Given the description of an element on the screen output the (x, y) to click on. 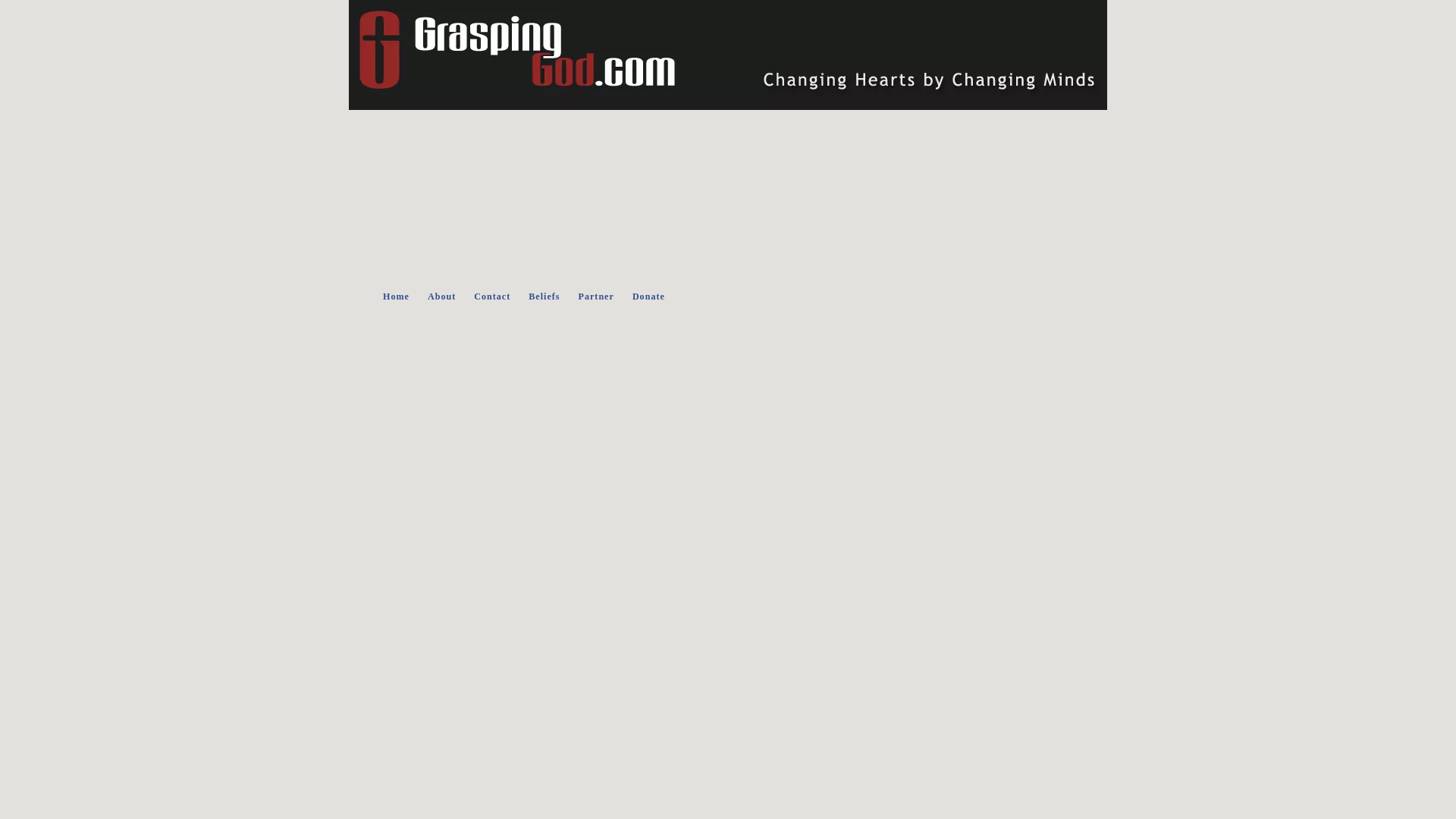
Beliefs (544, 296)
Partner (595, 296)
About (441, 296)
Home (395, 296)
Donate (648, 296)
Contact (491, 296)
